Given the description of an element on the screen output the (x, y) to click on. 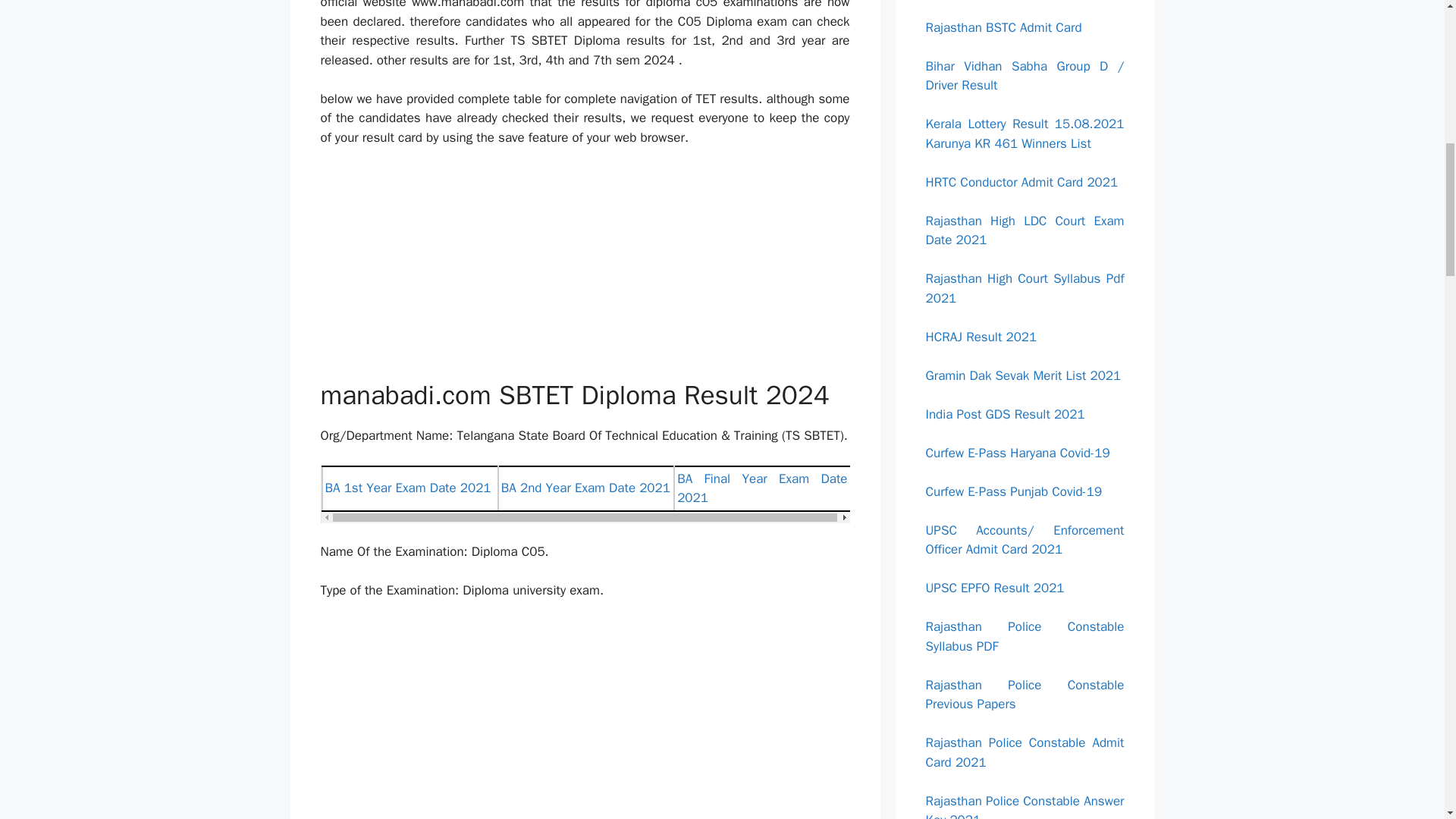
Advertisement (603, 273)
BA Final Year Exam Date 2021 (762, 488)
BA 2nd Year Exam Date 2021 (584, 487)
BA 1st Year Exam Date 2021 (407, 487)
Advertisement (603, 719)
